Given the description of an element on the screen output the (x, y) to click on. 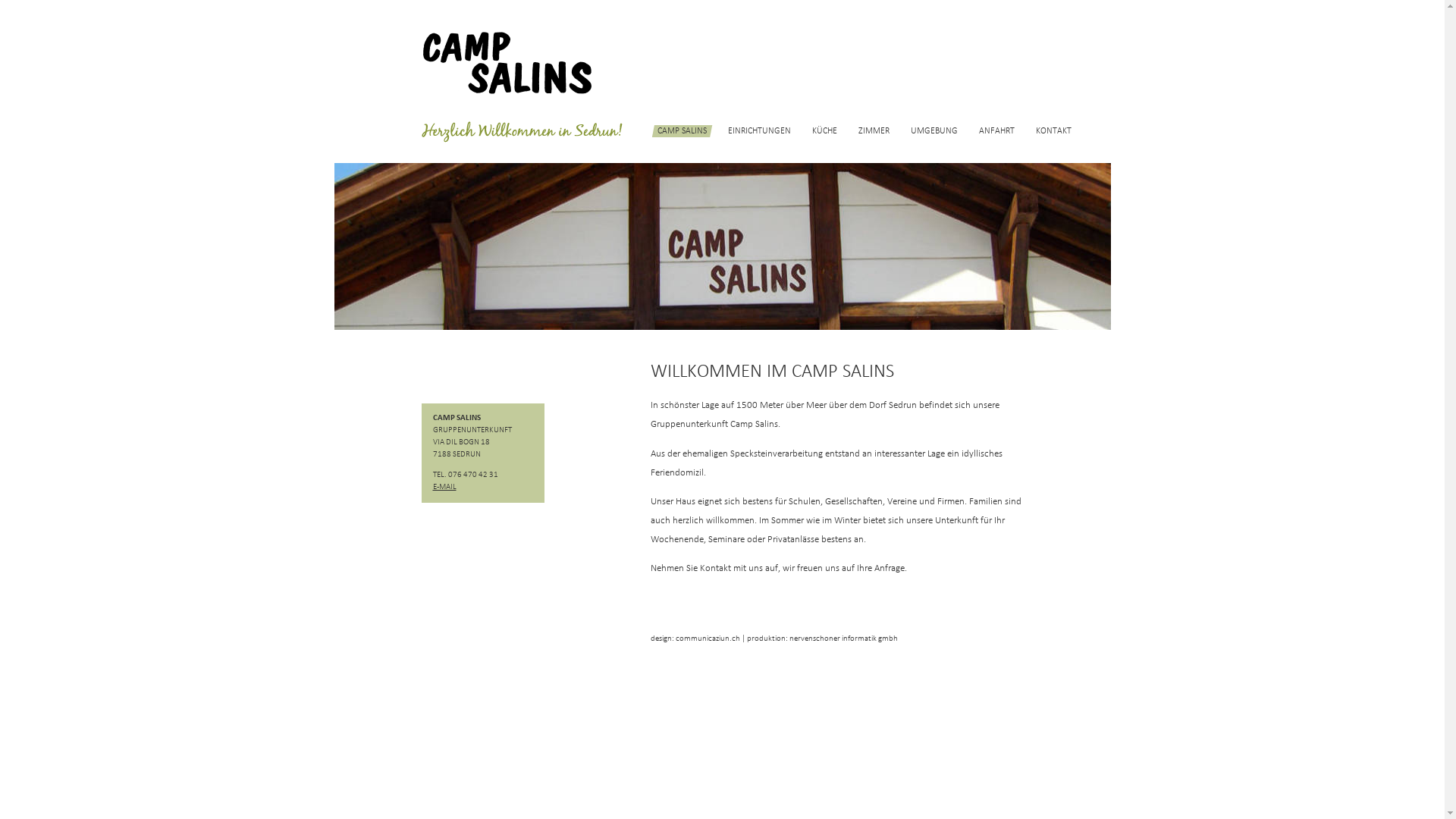
ANFAHRT Element type: text (995, 130)
KONTAKT Element type: text (1053, 130)
Home Element type: hover (521, 139)
ZIMMER Element type: text (873, 130)
communicaziun.ch Element type: text (706, 638)
E-MAIL Element type: text (443, 487)
UMGEBUNG Element type: text (933, 130)
EINRICHTUNGEN Element type: text (759, 130)
nervenschoner informatik gmbh Element type: text (842, 638)
CAMP SALINS Element type: text (681, 130)
